Given the description of an element on the screen output the (x, y) to click on. 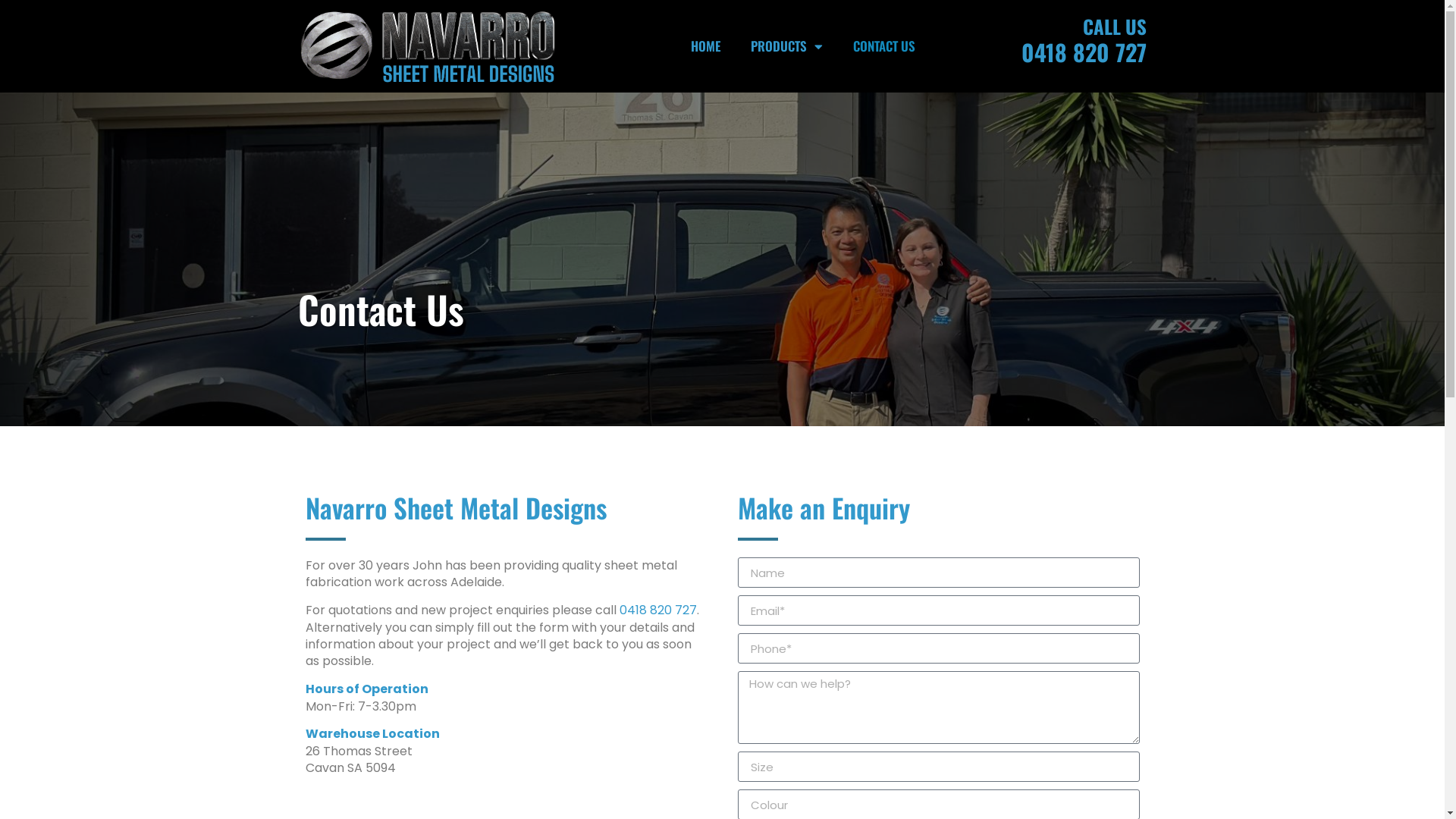
0418 820 727 Element type: text (657, 609)
CONTACT US Element type: text (883, 45)
HOME Element type: text (705, 45)
PRODUCTS Element type: text (786, 45)
0418 820 727 Element type: text (1083, 51)
